Given the description of an element on the screen output the (x, y) to click on. 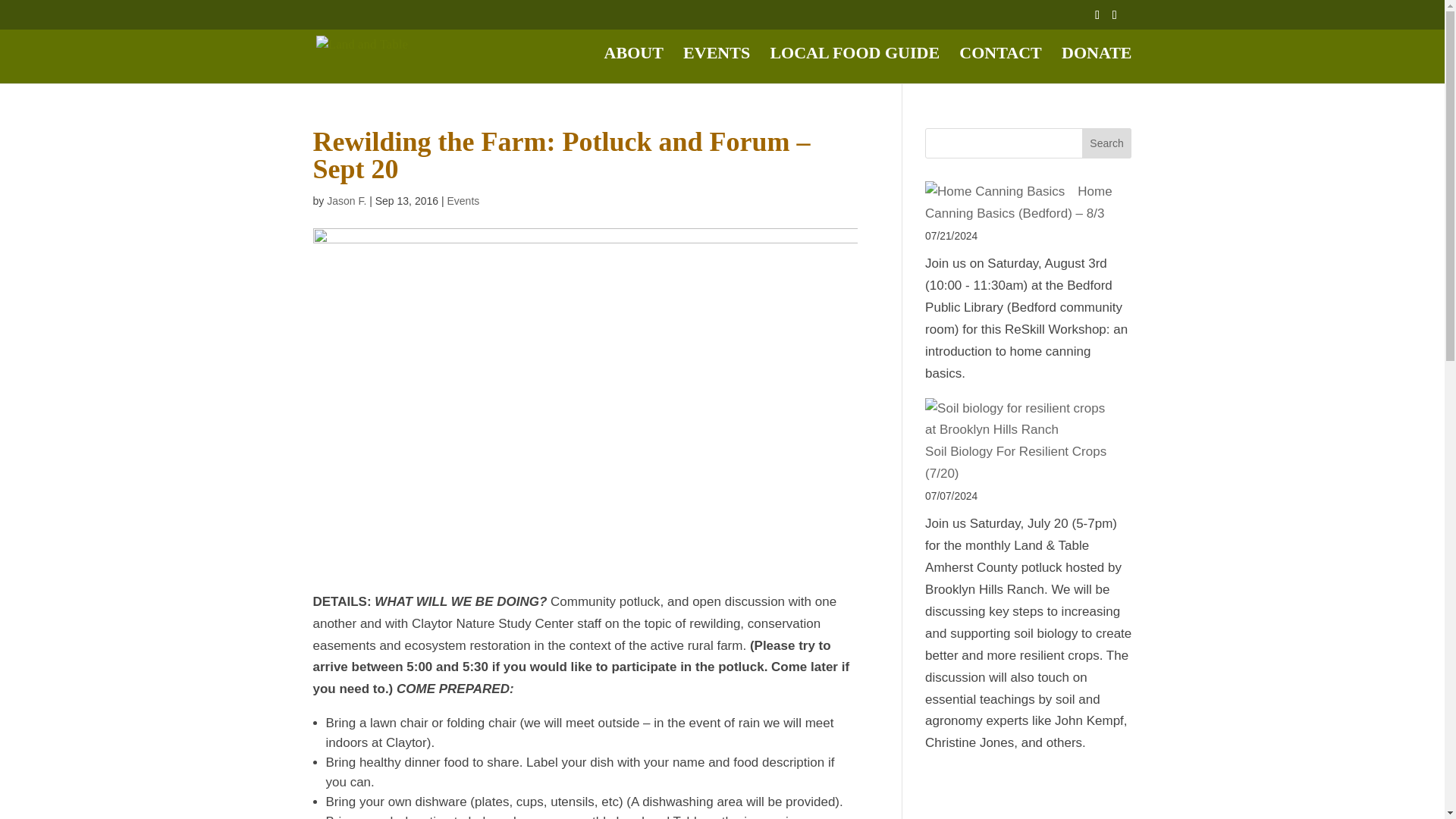
Jason F. (346, 200)
ABOUT (633, 65)
Search (1106, 142)
CONTACT (1000, 65)
DONATE (1096, 65)
Search (1106, 142)
LOCAL FOOD GUIDE (854, 65)
Posts by Jason F. (346, 200)
EVENTS (715, 65)
Events (462, 200)
